Given the description of an element on the screen output the (x, y) to click on. 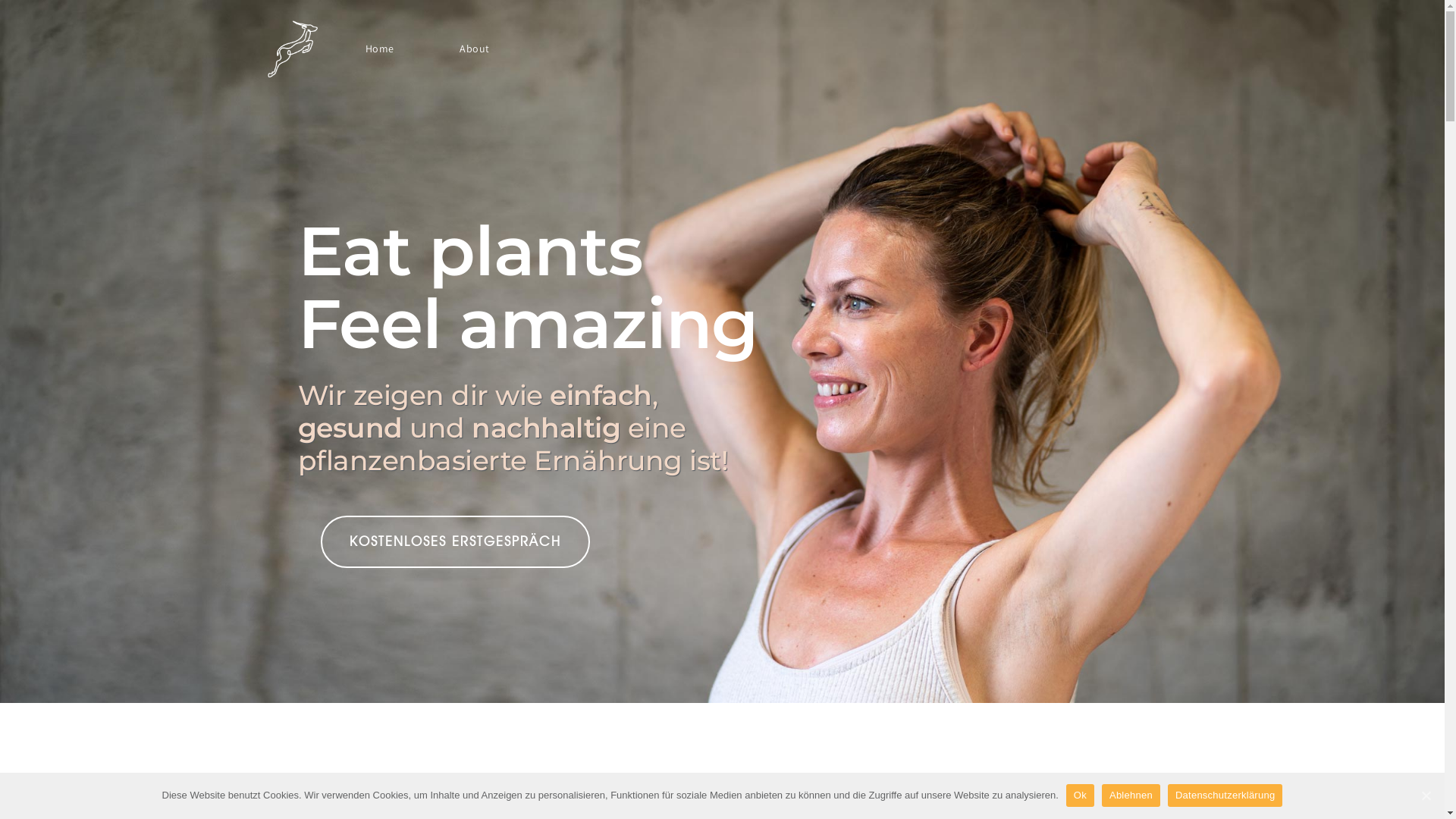
Ok Element type: text (1080, 795)
About Element type: text (474, 48)
Ablehnen Element type: text (1130, 795)
Home Element type: text (379, 48)
